Given the description of an element on the screen output the (x, y) to click on. 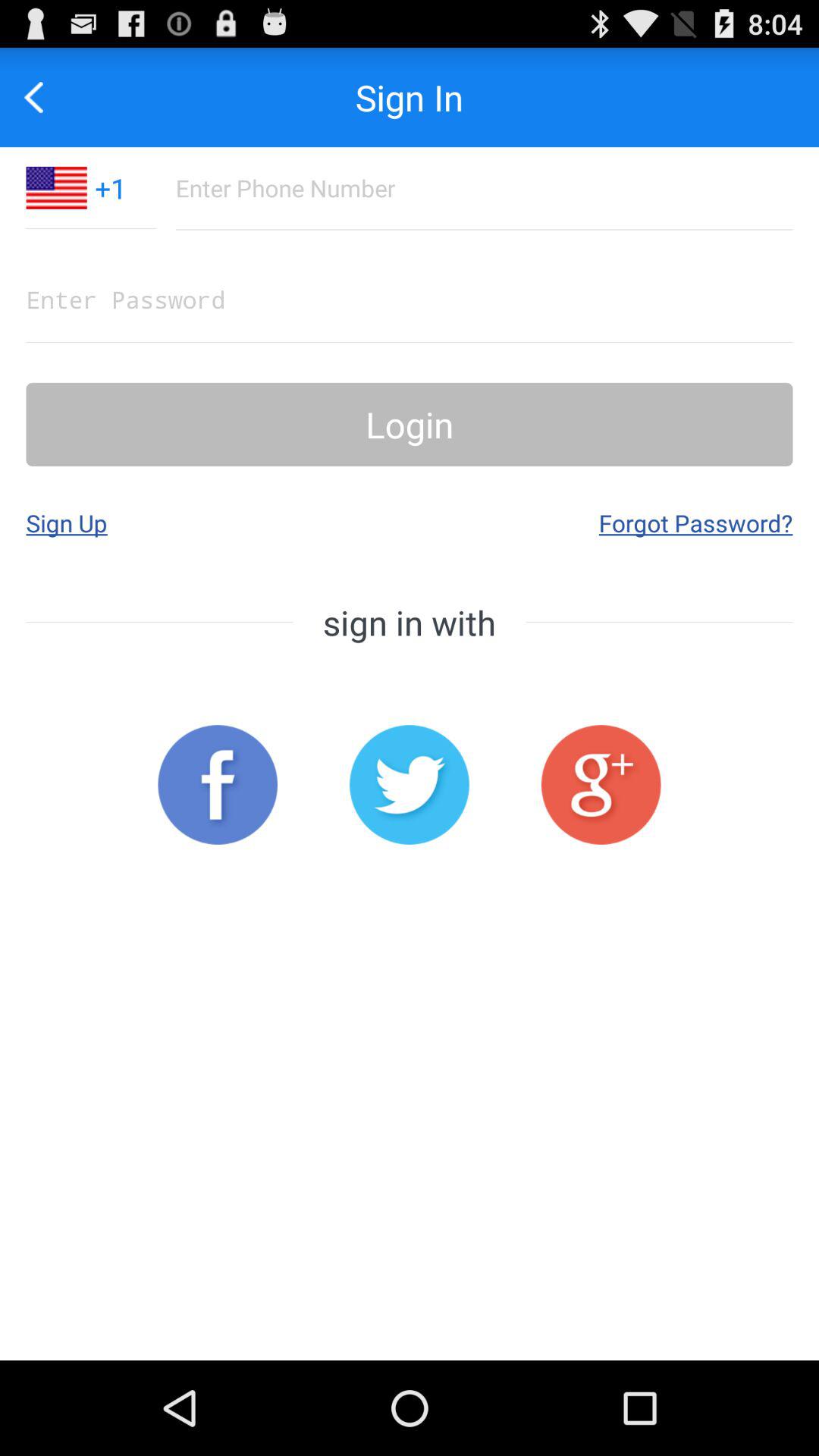
click app to the left of forgot password? (66, 522)
